Given the description of an element on the screen output the (x, y) to click on. 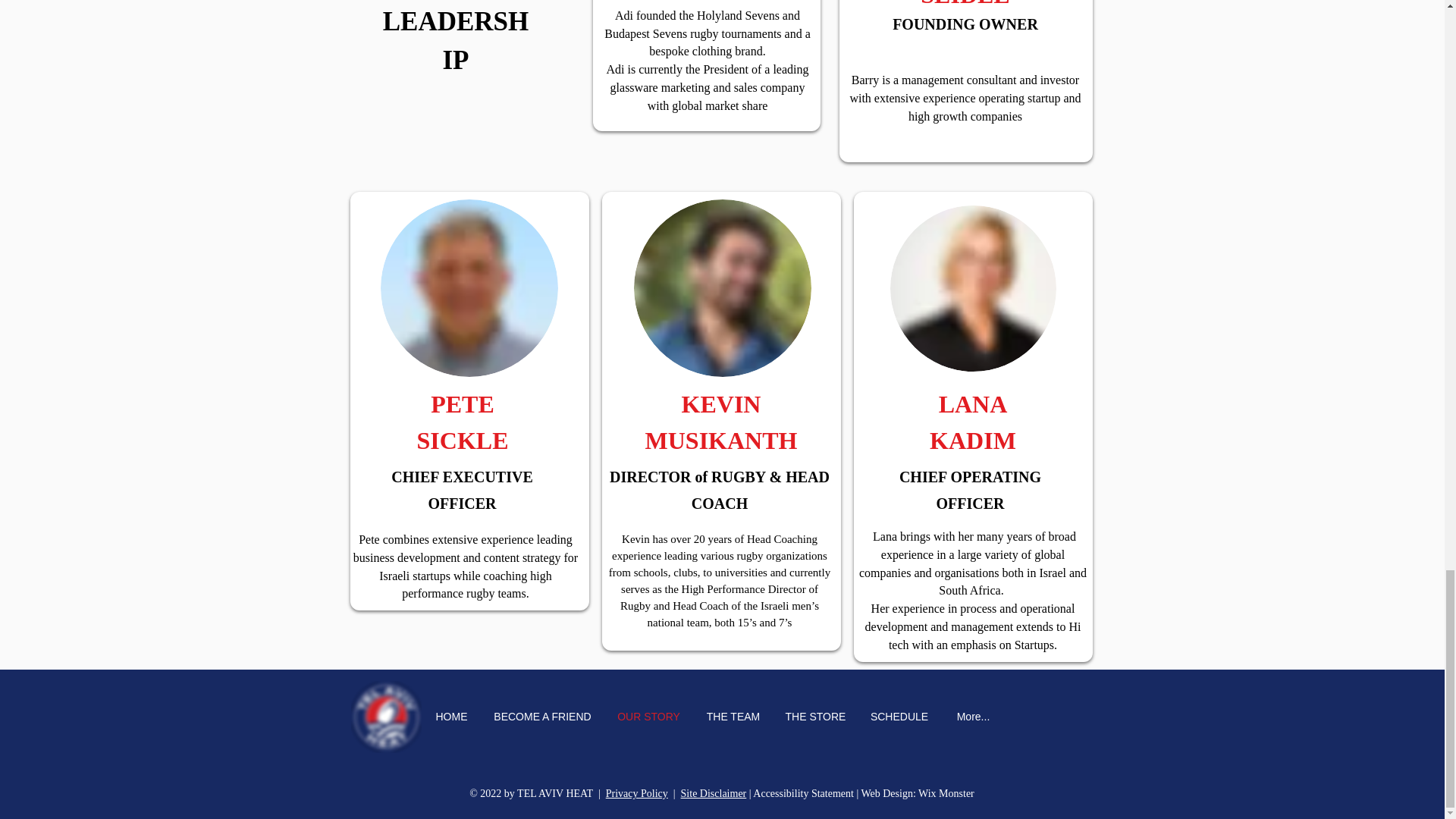
THE TEAM (733, 716)
Privacy Policy (636, 793)
BECOME A FRIEND (542, 716)
Accessibility Statement (802, 793)
OUR STORY (648, 716)
Wix Monster (946, 793)
THE STORE (816, 716)
Site Disclaimer (713, 793)
SCHEDULE (899, 716)
HOME (451, 716)
